Given the description of an element on the screen output the (x, y) to click on. 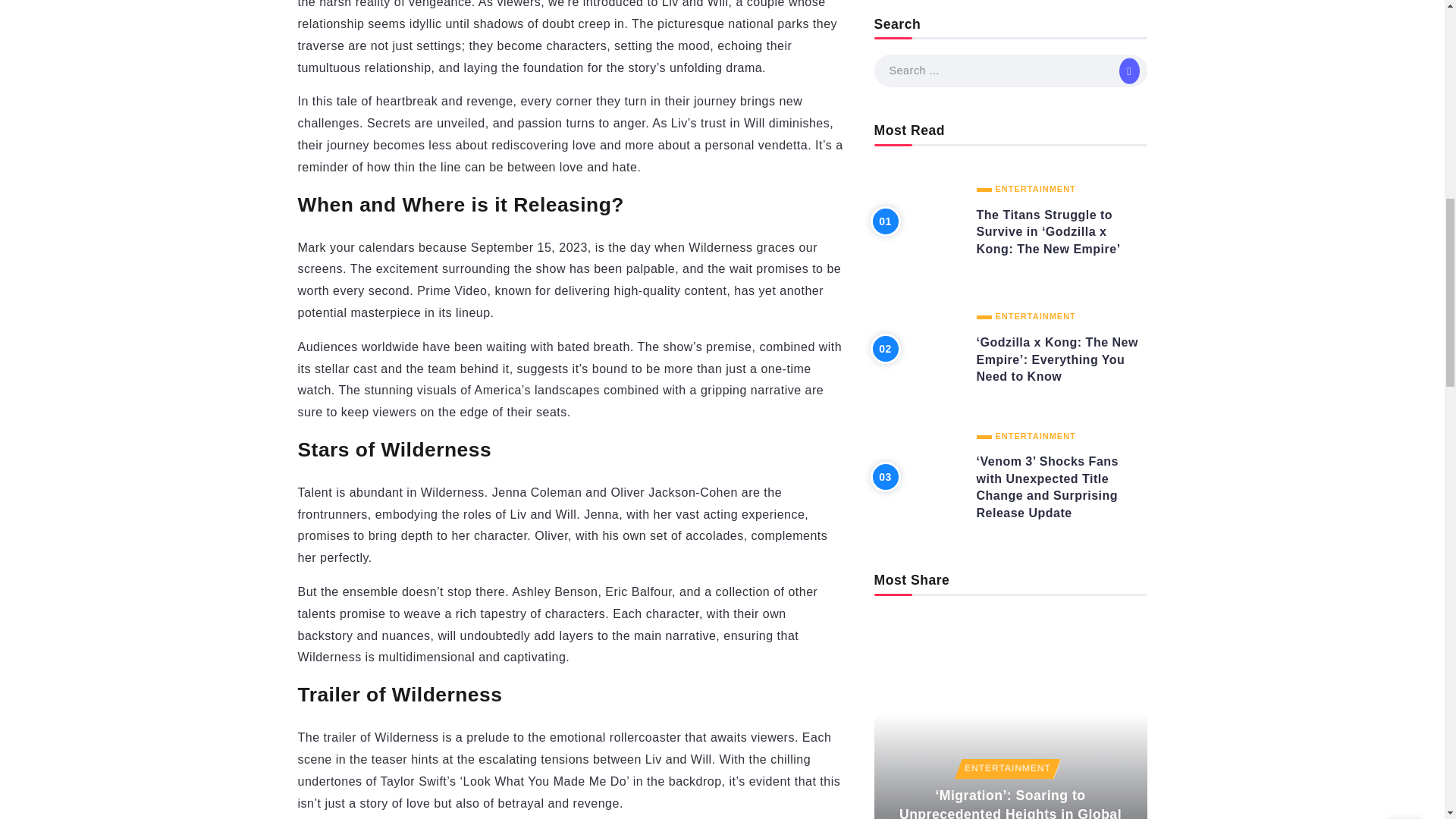
Folksmedia (967, 613)
ENTERTAINMENT (1003, 523)
ENTERTAINMENT (1025, 71)
Folksmedia (951, 736)
ENTERTAINMENT (1025, 191)
